Given the description of an element on the screen output the (x, y) to click on. 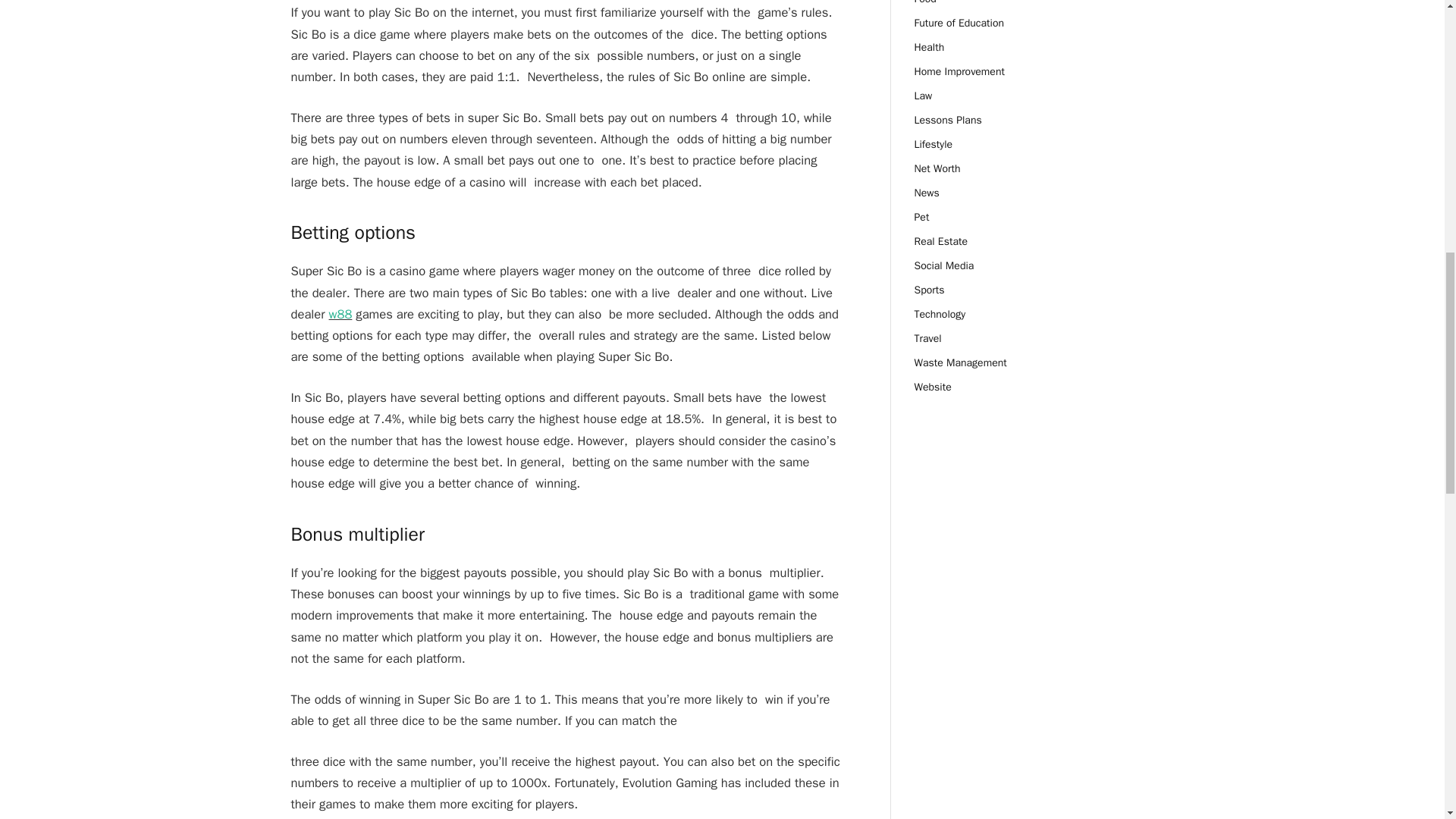
w88 (340, 314)
